Given the description of an element on the screen output the (x, y) to click on. 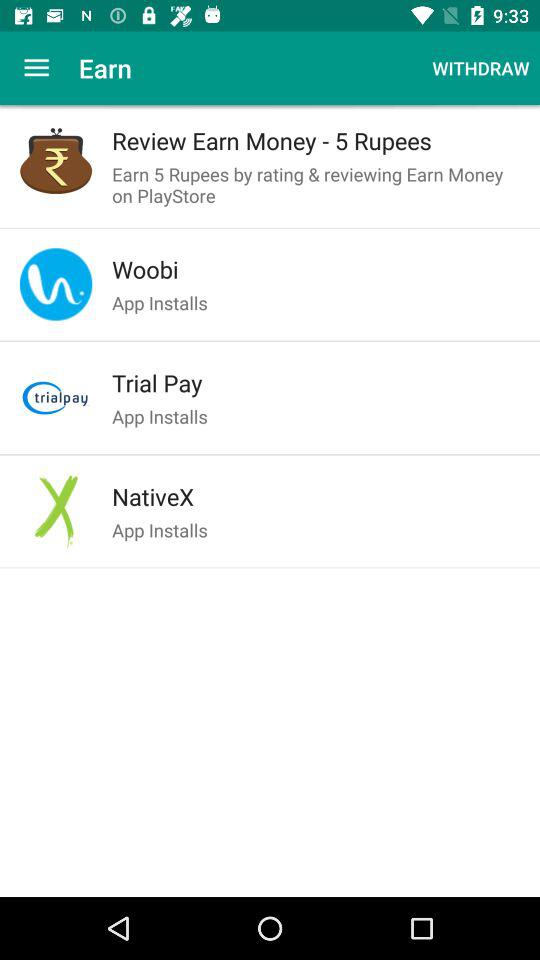
scroll until trial pay icon (316, 383)
